Given the description of an element on the screen output the (x, y) to click on. 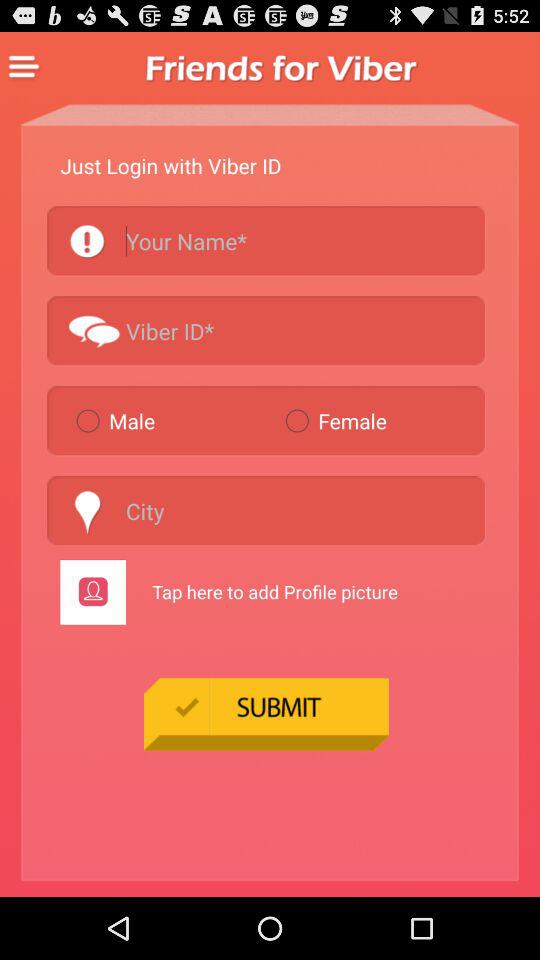
submit (266, 713)
